Given the description of an element on the screen output the (x, y) to click on. 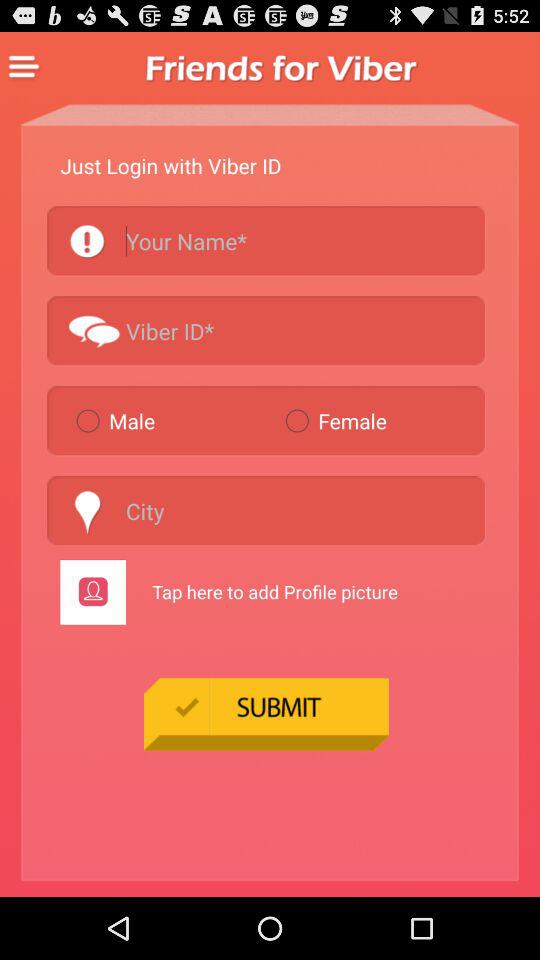
submit (266, 713)
